Given the description of an element on the screen output the (x, y) to click on. 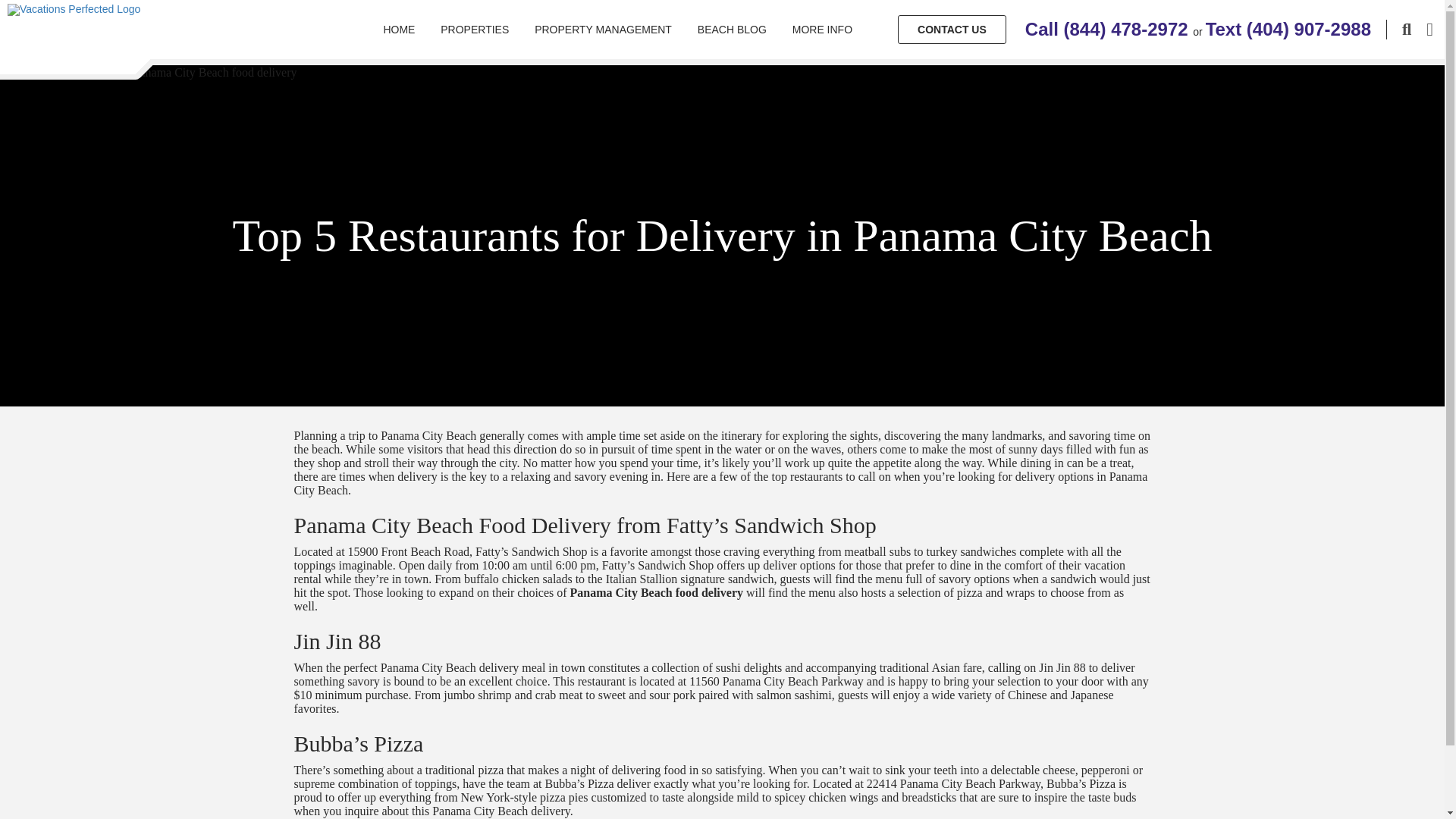
CONTACT US (952, 29)
PROPERTY MANAGEMENT (602, 29)
Vacations Perfected Logo (73, 9)
PROPERTIES (474, 29)
MORE INFO (821, 29)
BEACH BLOG (731, 29)
get sushi and more from Panama City Beach food delivery (148, 72)
HOME (398, 29)
